Given the description of an element on the screen output the (x, y) to click on. 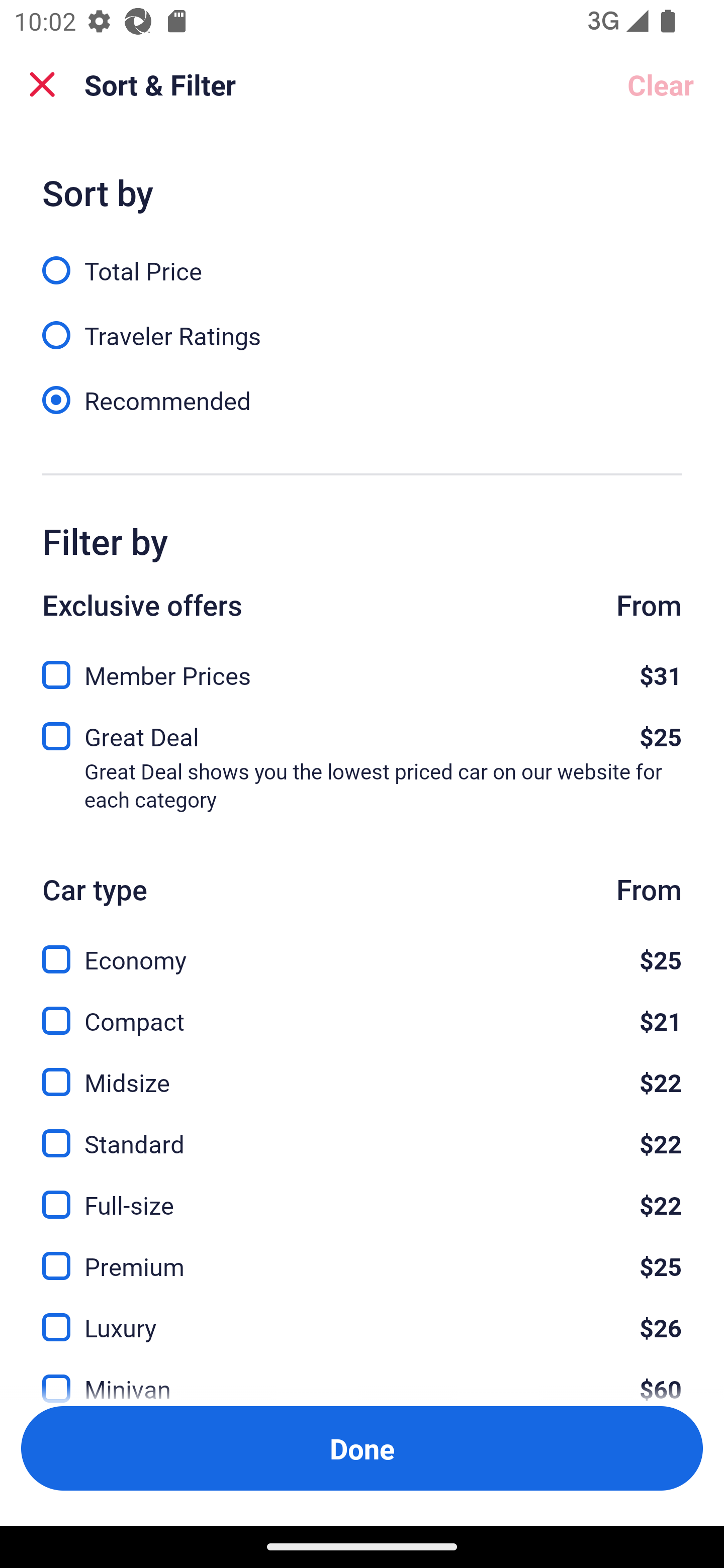
Close Sort and Filter (42, 84)
Clear (660, 84)
Total Price (361, 259)
Traveler Ratings (361, 324)
Member Prices, $31 Member Prices $31 (361, 669)
Economy, $25 Economy $25 (361, 947)
Compact, $21 Compact $21 (361, 1008)
Midsize, $22 Midsize $22 (361, 1070)
Standard, $22 Standard $22 (361, 1132)
Full-size, $22 Full-size $22 (361, 1193)
Premium, $25 Premium $25 (361, 1254)
Luxury, $26 Luxury $26 (361, 1315)
Minivan, $60 Minivan $60 (361, 1376)
Apply and close Sort and Filter Done (361, 1448)
